Given the description of an element on the screen output the (x, y) to click on. 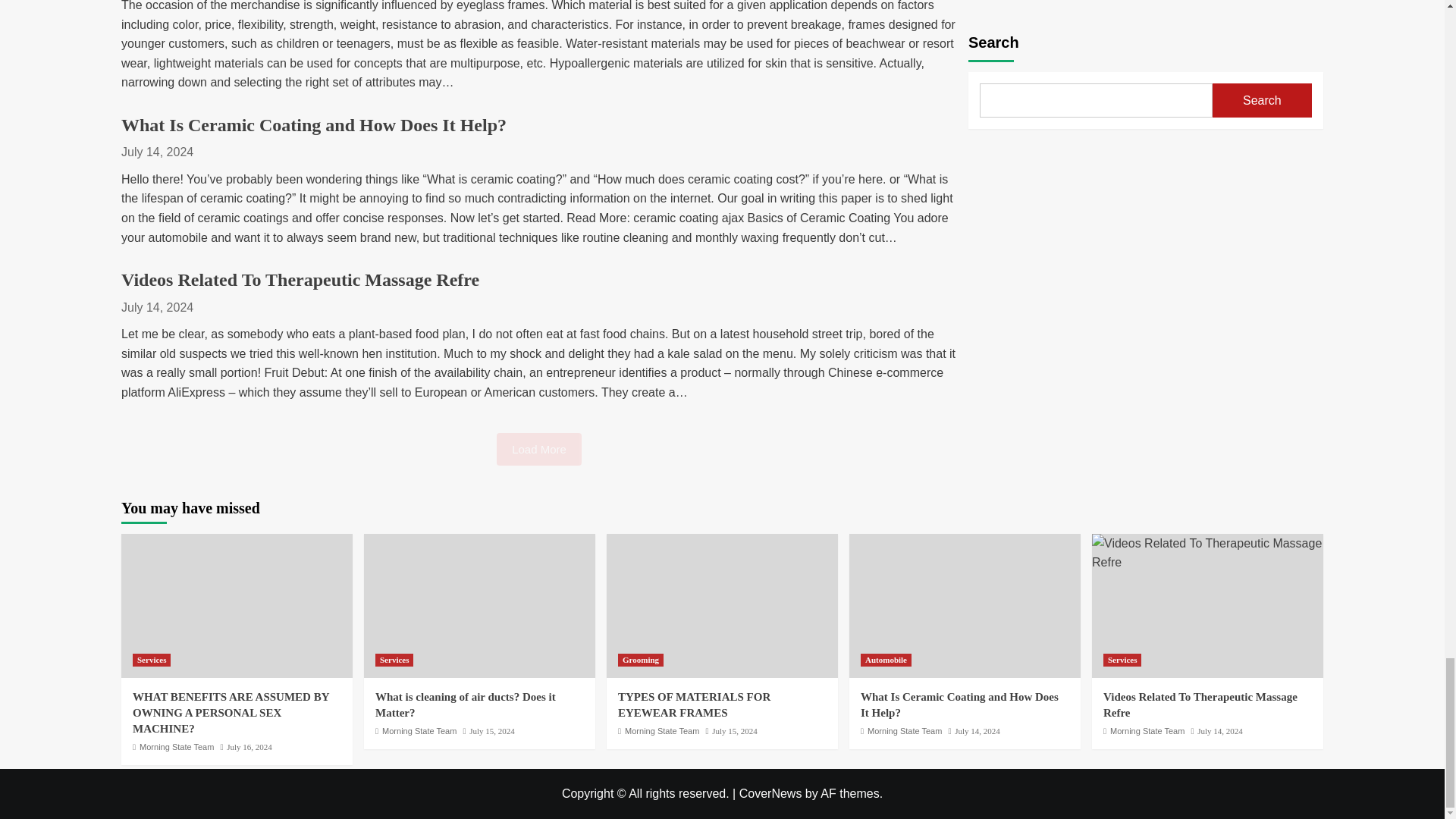
What Is Ceramic Coating and How Does It Help? (313, 125)
Load More (538, 449)
Videos Related To Therapeutic Massage Refre (299, 279)
